Given the description of an element on the screen output the (x, y) to click on. 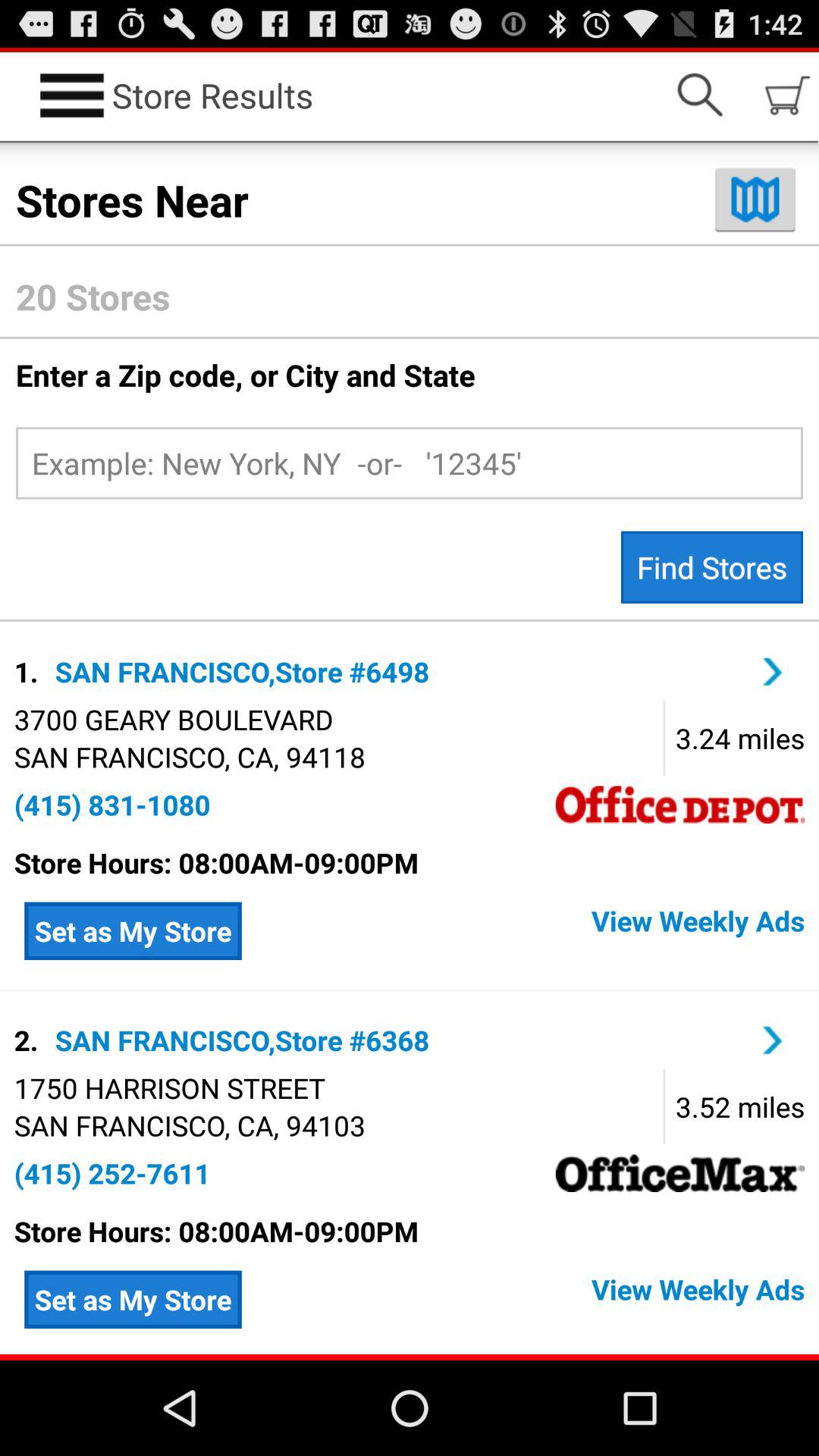
press the icon above 3700 geary boulevard (29, 671)
